Given the description of an element on the screen output the (x, y) to click on. 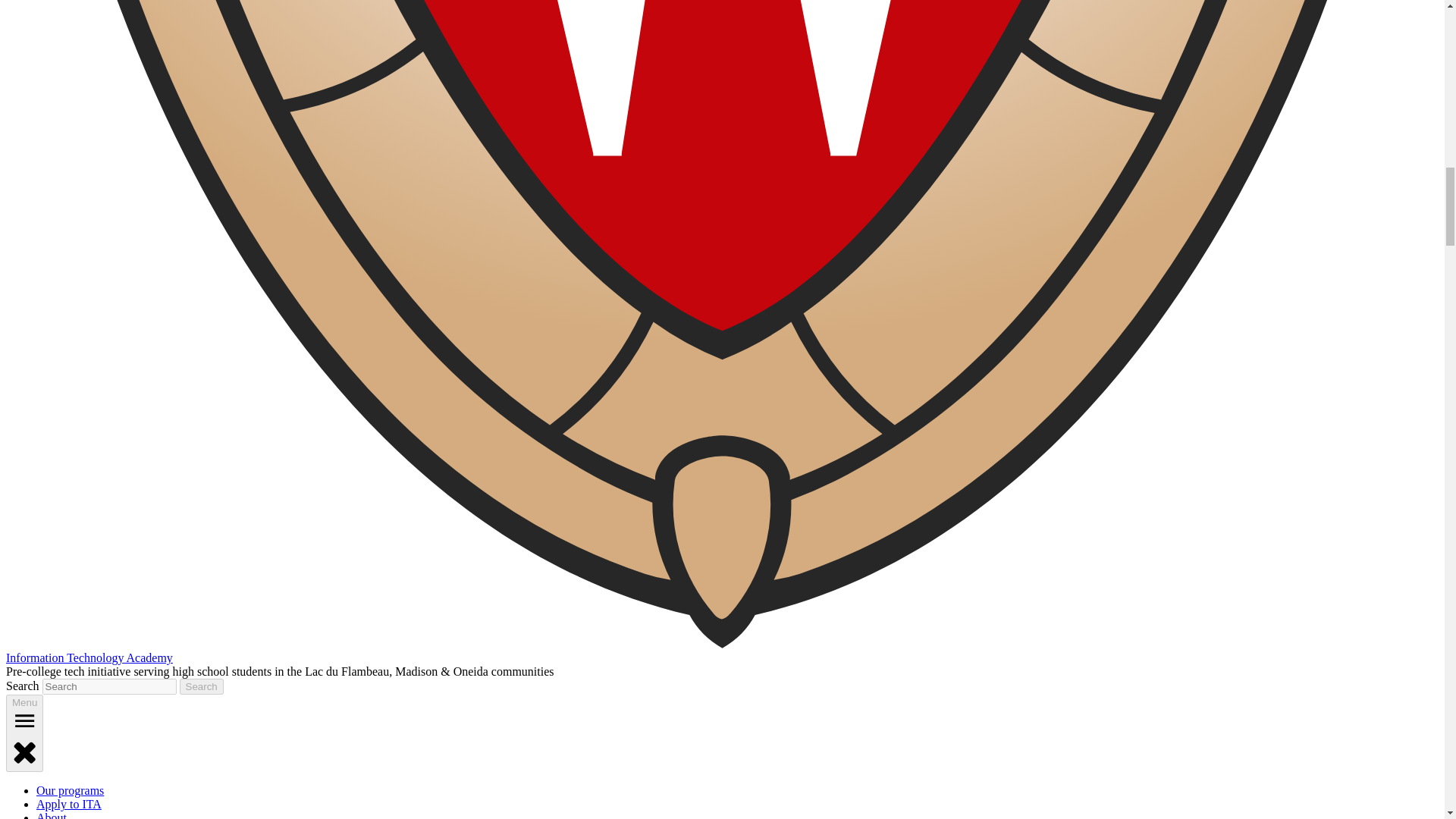
Search (201, 686)
Apply to ITA (68, 803)
open menu (24, 720)
Search (201, 686)
Information Technology Academy (89, 657)
Our programs (69, 789)
About (51, 815)
Search (201, 686)
